Given the description of an element on the screen output the (x, y) to click on. 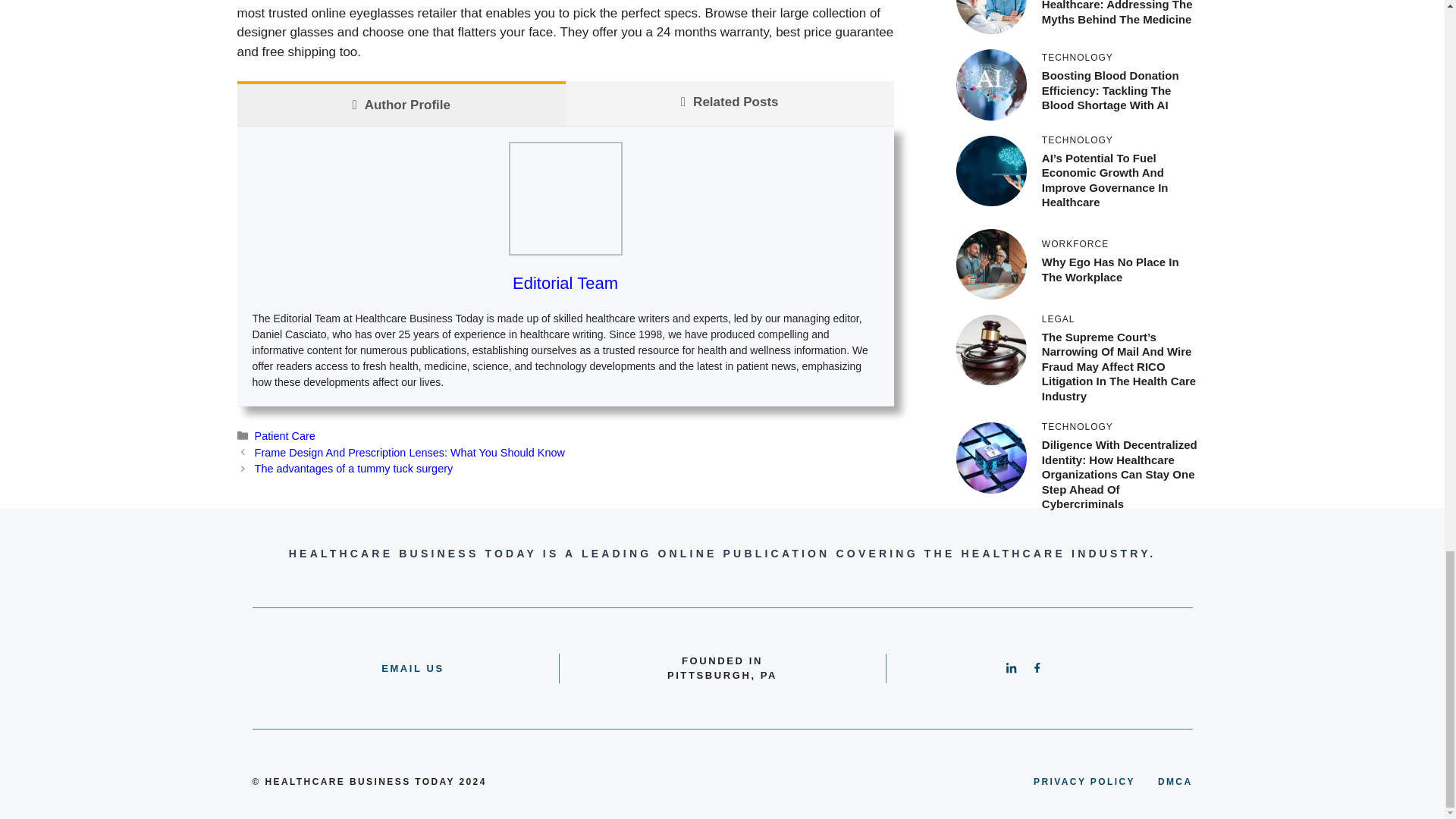
How To Buy Glasses With Vision Direct 1 (564, 198)
Editorial Team (564, 282)
The advantages of a tummy tuck surgery (353, 468)
Frame Design And Prescription Lenses: What You Should Know (409, 452)
Patient Care (284, 435)
